Given the description of an element on the screen output the (x, y) to click on. 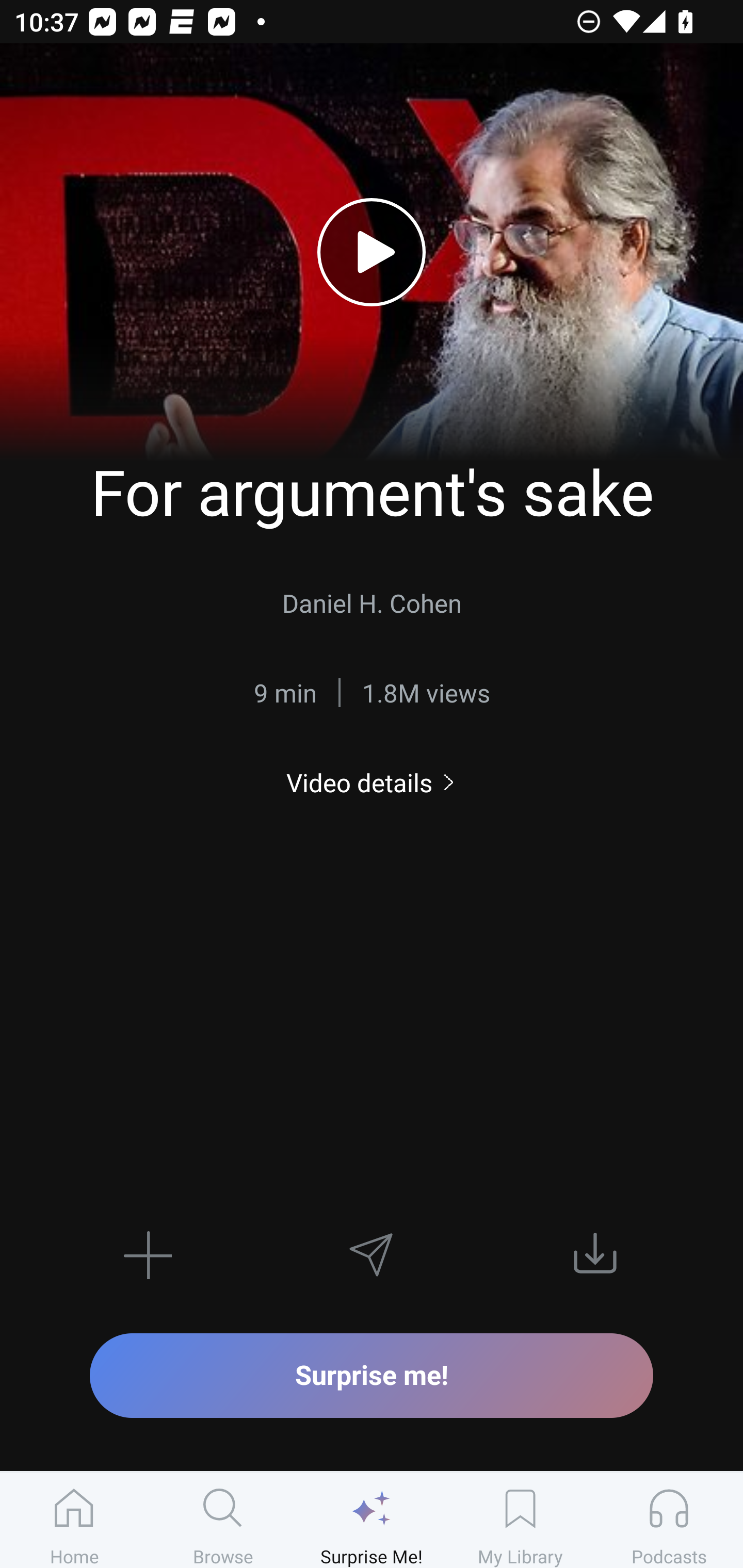
Video details (371, 783)
Surprise me! (371, 1374)
Home (74, 1520)
Browse (222, 1520)
Surprise Me! (371, 1520)
My Library (519, 1520)
Podcasts (668, 1520)
